Given the description of an element on the screen output the (x, y) to click on. 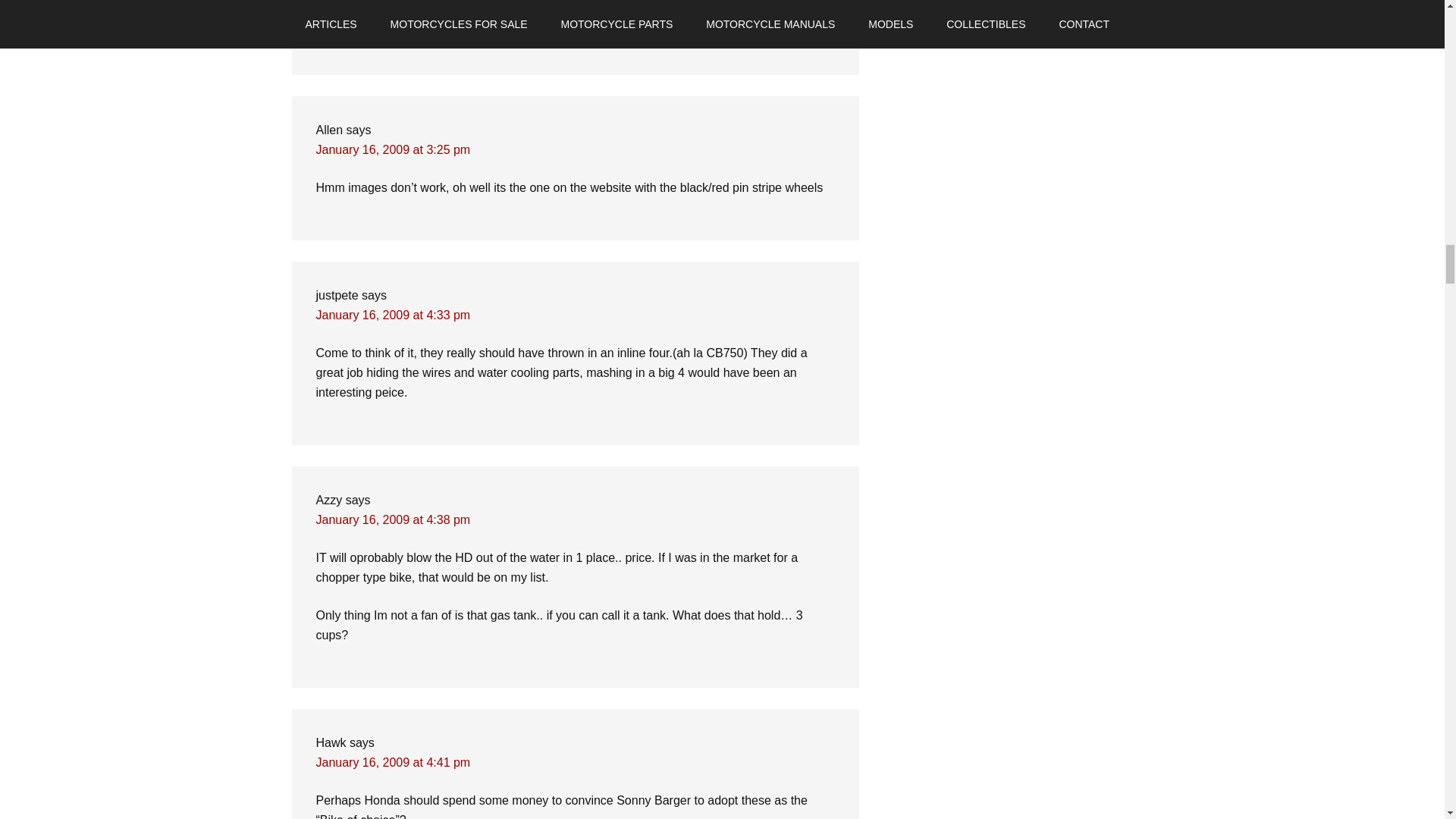
January 16, 2009 at 4:38 pm (392, 519)
January 16, 2009 at 4:41 pm (392, 762)
January 16, 2009 at 3:25 pm (392, 149)
January 16, 2009 at 4:33 pm (392, 314)
